Given the description of an element on the screen output the (x, y) to click on. 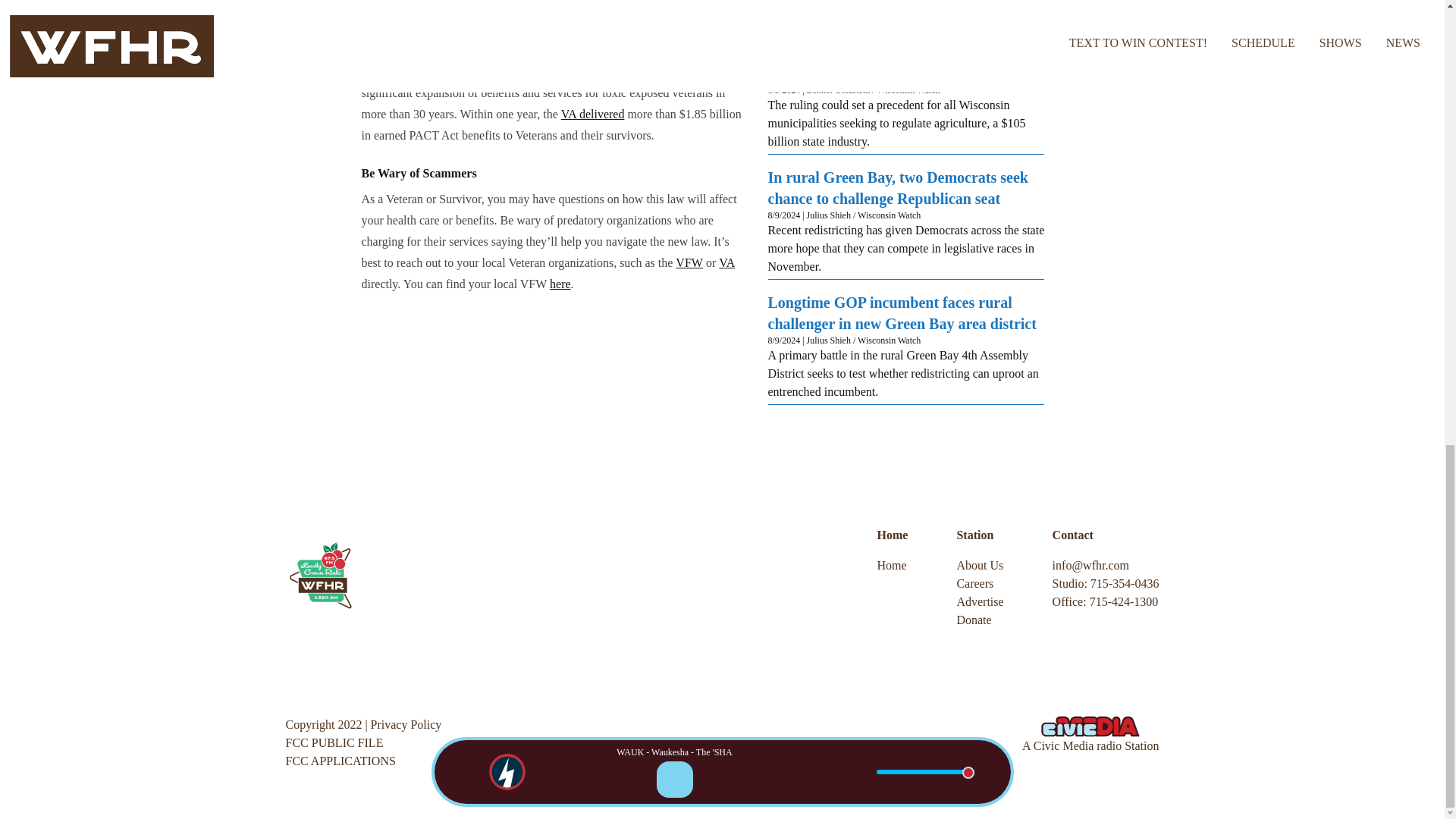
FCC APPLICATIONS (339, 760)
VFW (689, 262)
Careers (979, 583)
FCC PUBLIC FILE (333, 742)
About Us (979, 565)
Home (892, 565)
Wisconsin town of Eureka sued over large farm regulations (905, 62)
Donate (979, 619)
Fact Sheet (470, 71)
